Given the description of an element on the screen output the (x, y) to click on. 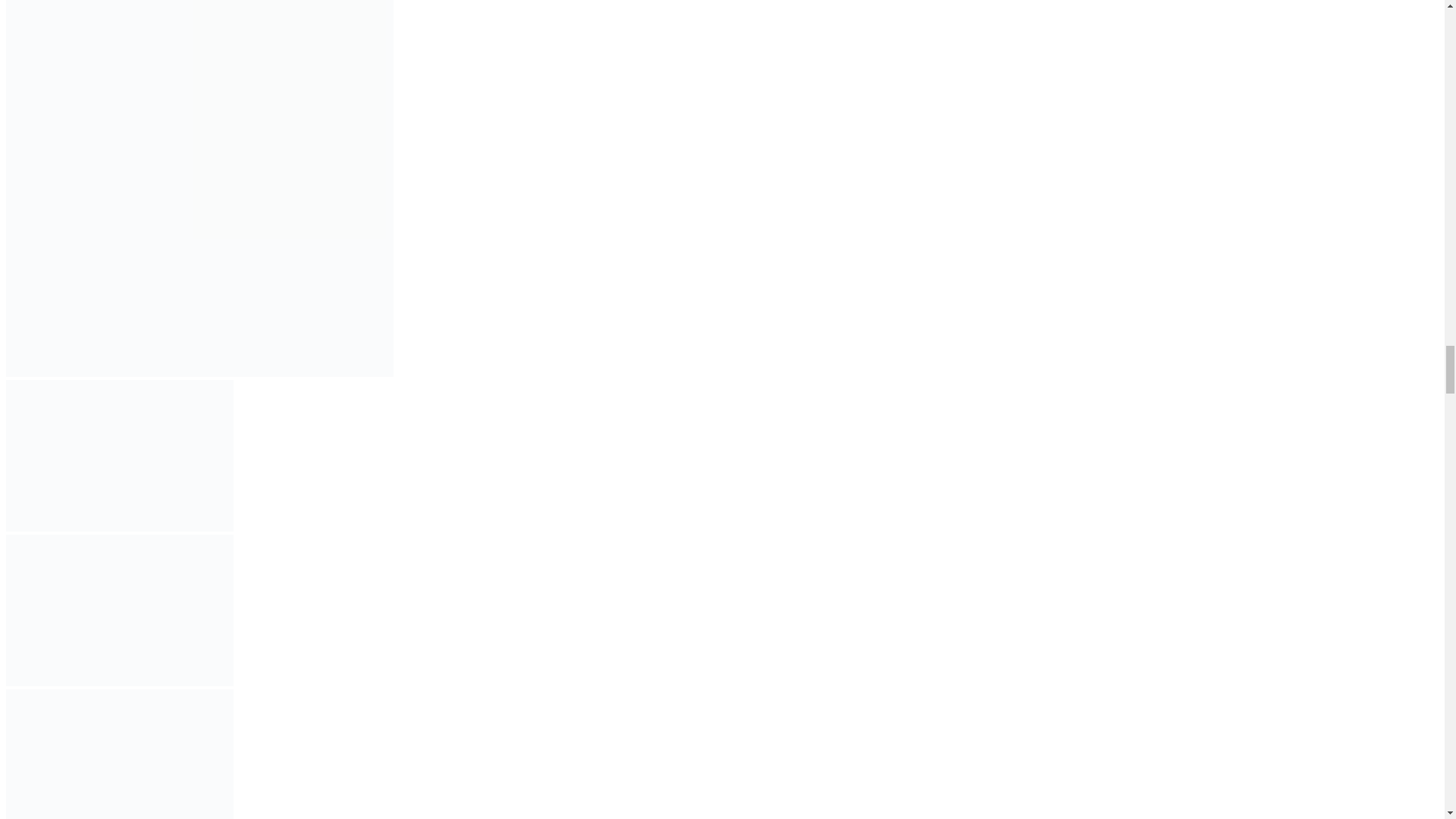
Seychelles inner islands mahe constance ephelia resort12 (118, 754)
Seychelles inner islands mahe constance ephelia resort11 (118, 610)
Seychelles inner islands mahe constance ephelia resort10 (118, 455)
